Given the description of an element on the screen output the (x, y) to click on. 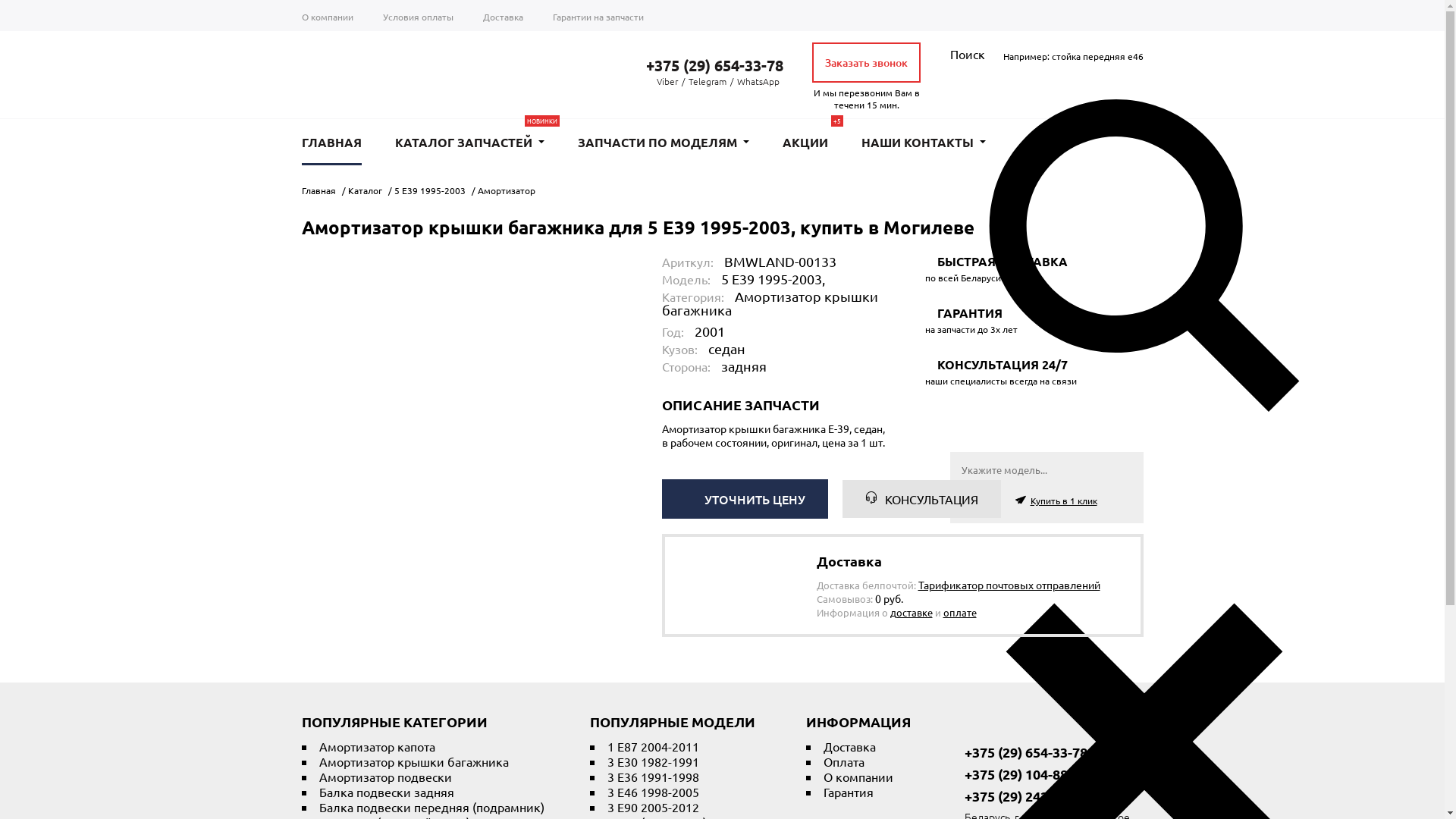
3 E36 1991-1998 Element type: text (652, 776)
5 E39 1995-2003 Element type: text (429, 190)
WhatsApp Element type: text (758, 80)
3 E46 1998-2005 Element type: text (652, 791)
3 E90 2005-2012 Element type: text (652, 806)
3 E30 1982-1991 Element type: text (652, 760)
+375 (29) 104-88-04 Element type: text (1017, 774)
+375 (29) 654-33-78 Element type: text (1017, 752)
+375 (29) 654-33-78 Element type: text (704, 64)
+375 (29) 242-21-05 Element type: text (1017, 796)
Viber Element type: text (666, 80)
Telegram Element type: text (707, 80)
1 E87 2004-2011 Element type: text (652, 745)
